Given the description of an element on the screen output the (x, y) to click on. 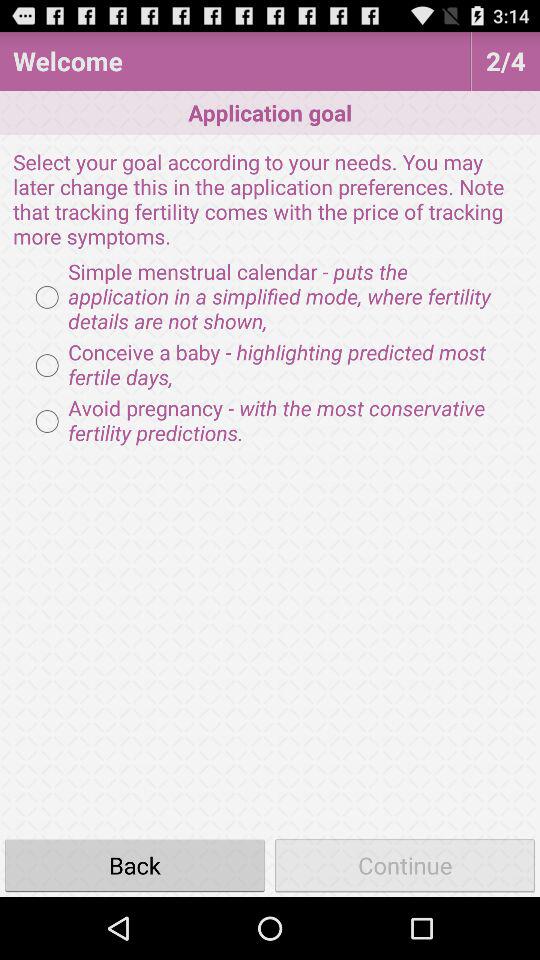
select the conceive a baby (269, 365)
